Given the description of an element on the screen output the (x, y) to click on. 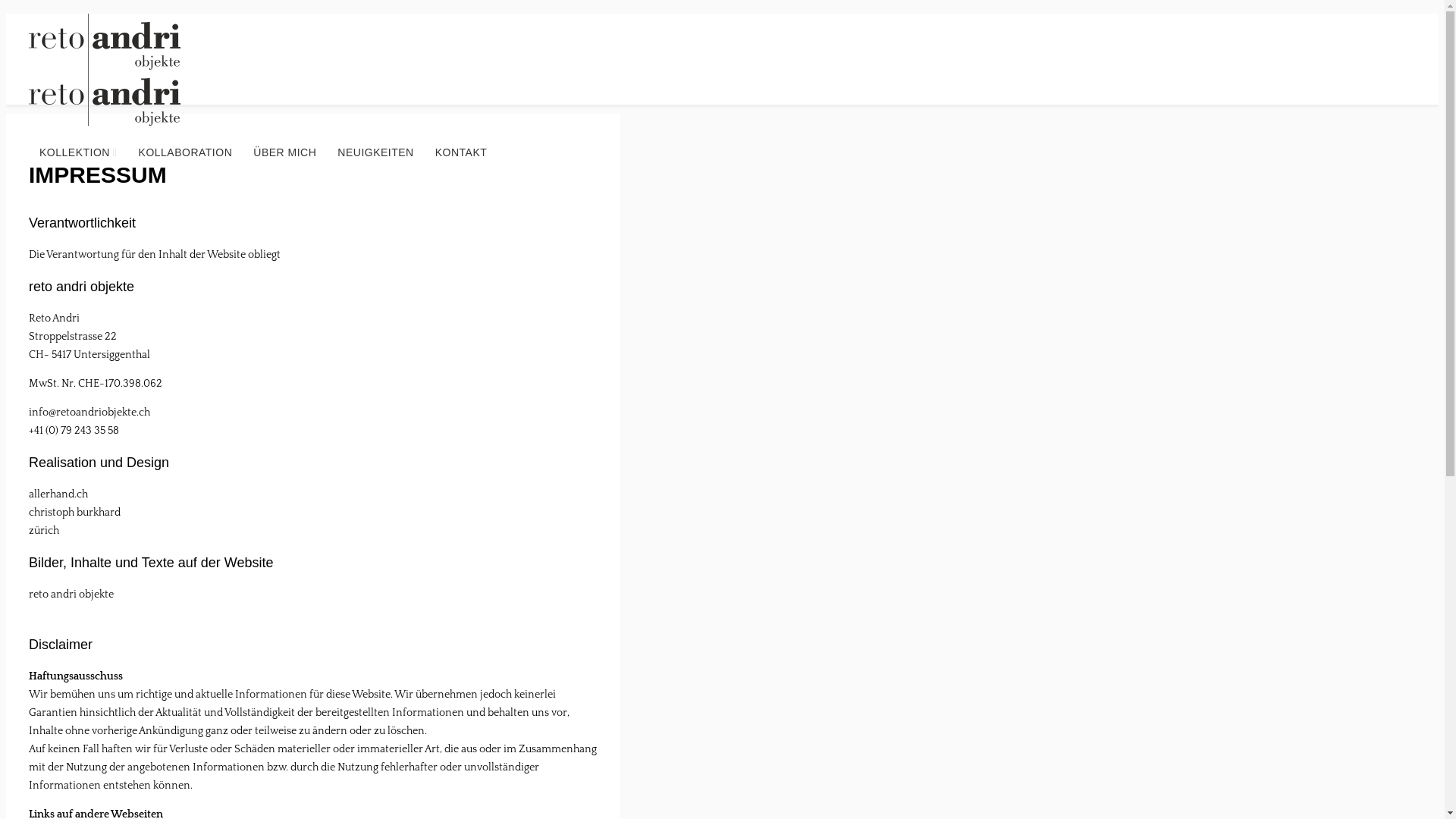
allerhand.ch Element type: text (57, 494)
info@retoandriobjekte.ch Element type: text (89, 412)
KOLLABORATION Element type: text (185, 151)
KONTAKT Element type: text (461, 151)
NEUIGKEITEN Element type: text (374, 151)
KOLLEKTION Element type: text (78, 152)
